Given the description of an element on the screen output the (x, y) to click on. 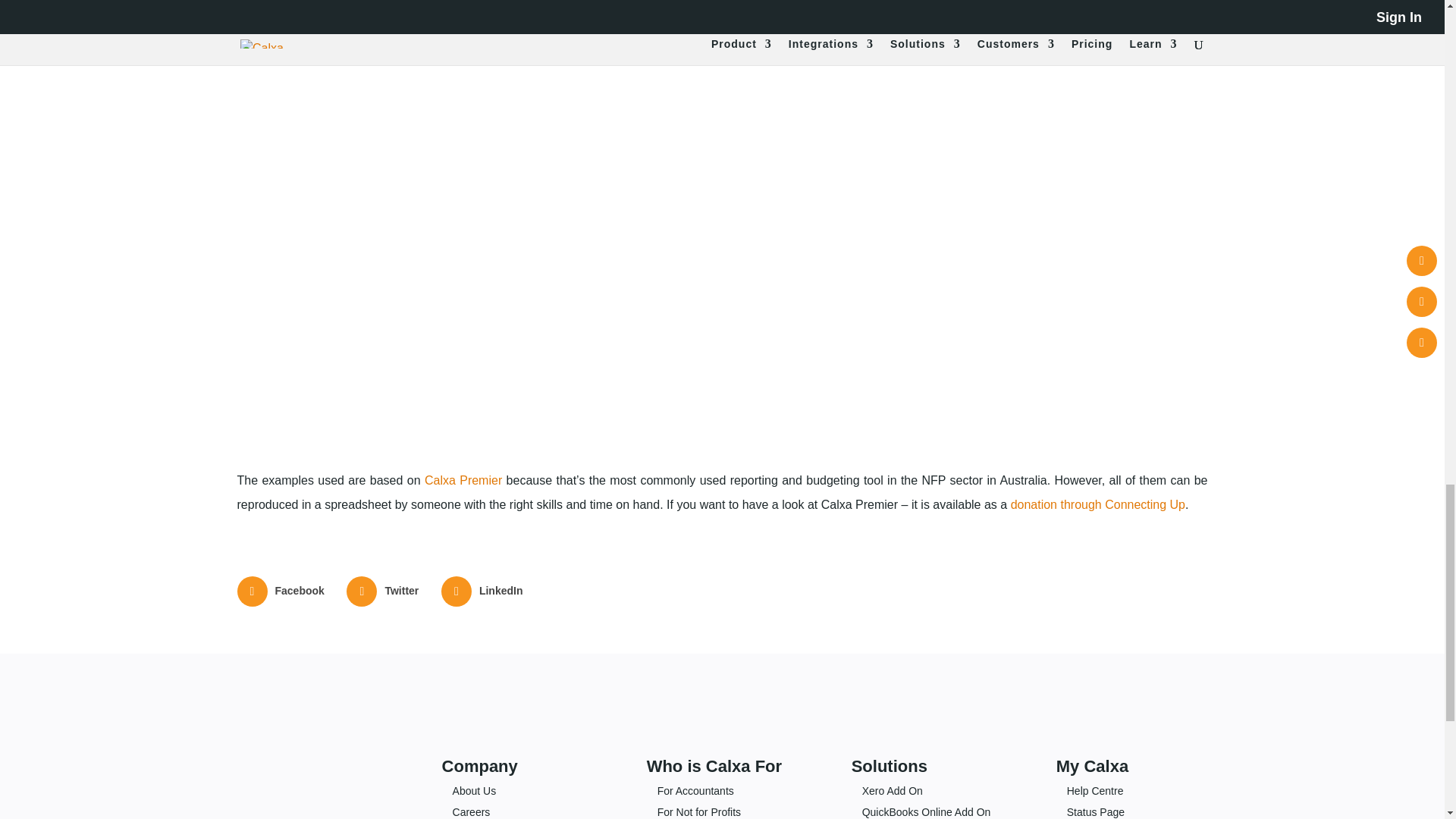
Twitter (384, 591)
donation through Connecting Up (1097, 504)
Careers (471, 811)
LinkedIn (483, 591)
Facebook (280, 591)
Calxa Premier (463, 480)
About Us (474, 790)
